Given the description of an element on the screen output the (x, y) to click on. 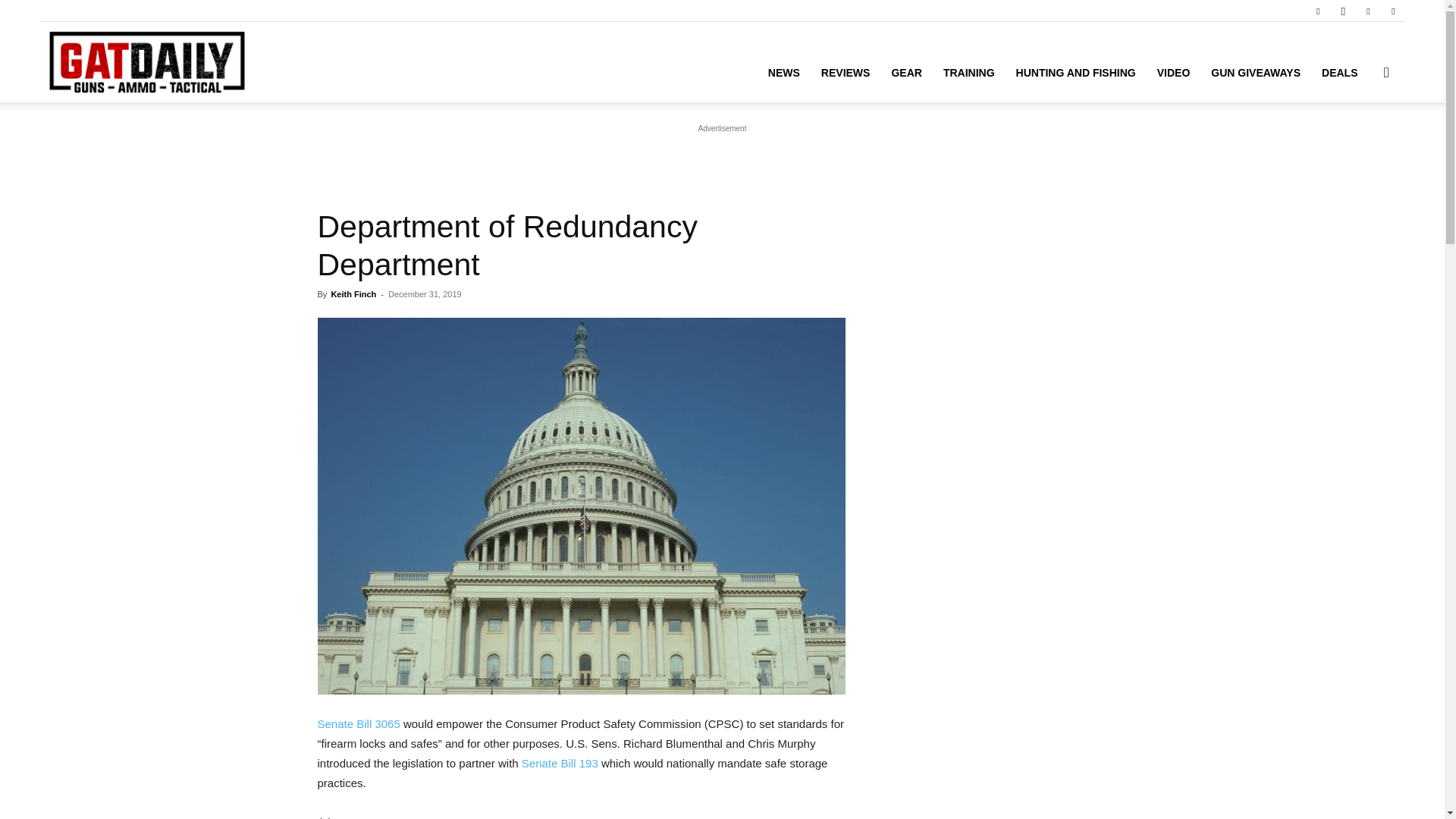
Twitter (1367, 10)
Facebook (1317, 10)
Instagram (1343, 10)
Guns Ammo Tactical Daily Gear Blog (146, 62)
Youtube (1393, 10)
